Given the description of an element on the screen output the (x, y) to click on. 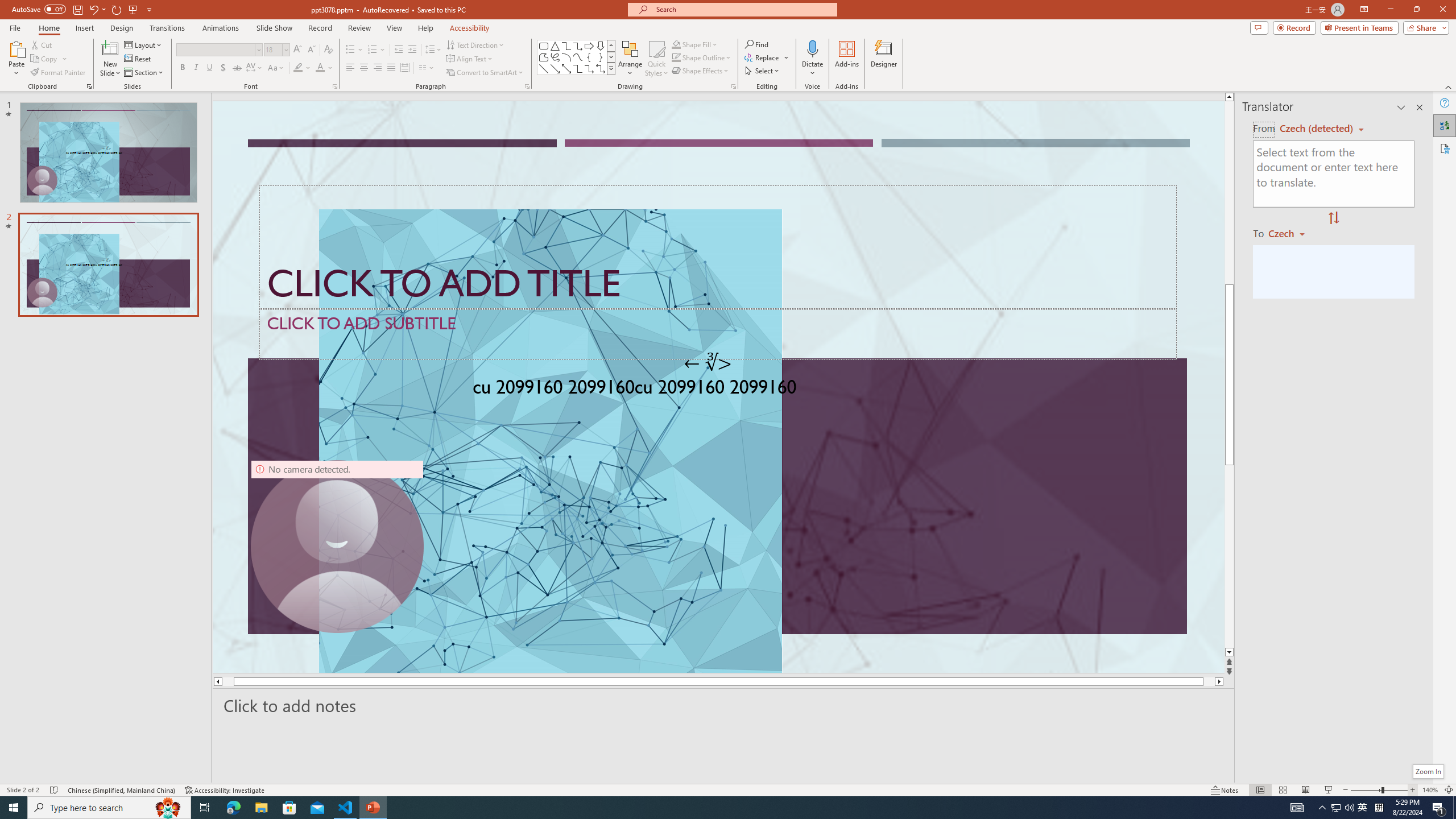
An abstract genetic concept (718, 387)
Shape Fill Dark Green, Accent 2 (675, 44)
